Given the description of an element on the screen output the (x, y) to click on. 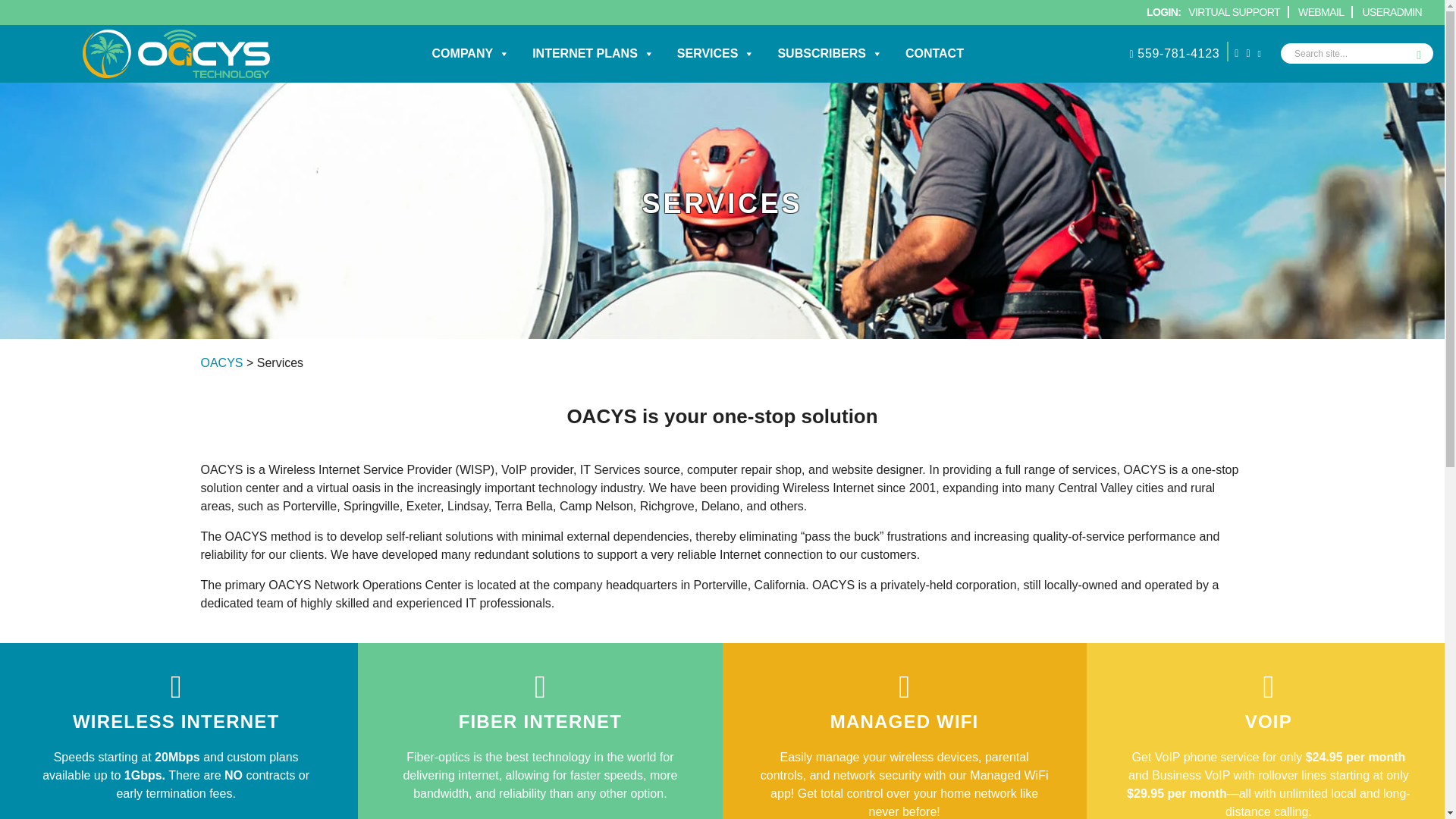
SUBSCRIBERS (829, 54)
OACYS (221, 362)
VIRTUAL SUPPORT (1233, 11)
Go to OACYS. (221, 362)
COMPANY (470, 54)
USERADMIN (1391, 11)
INTERNET PLANS (593, 54)
559-781-4123 (1172, 54)
SERVICES (716, 54)
WEBMAIL (1320, 11)
CONTACT (934, 54)
